Given the description of an element on the screen output the (x, y) to click on. 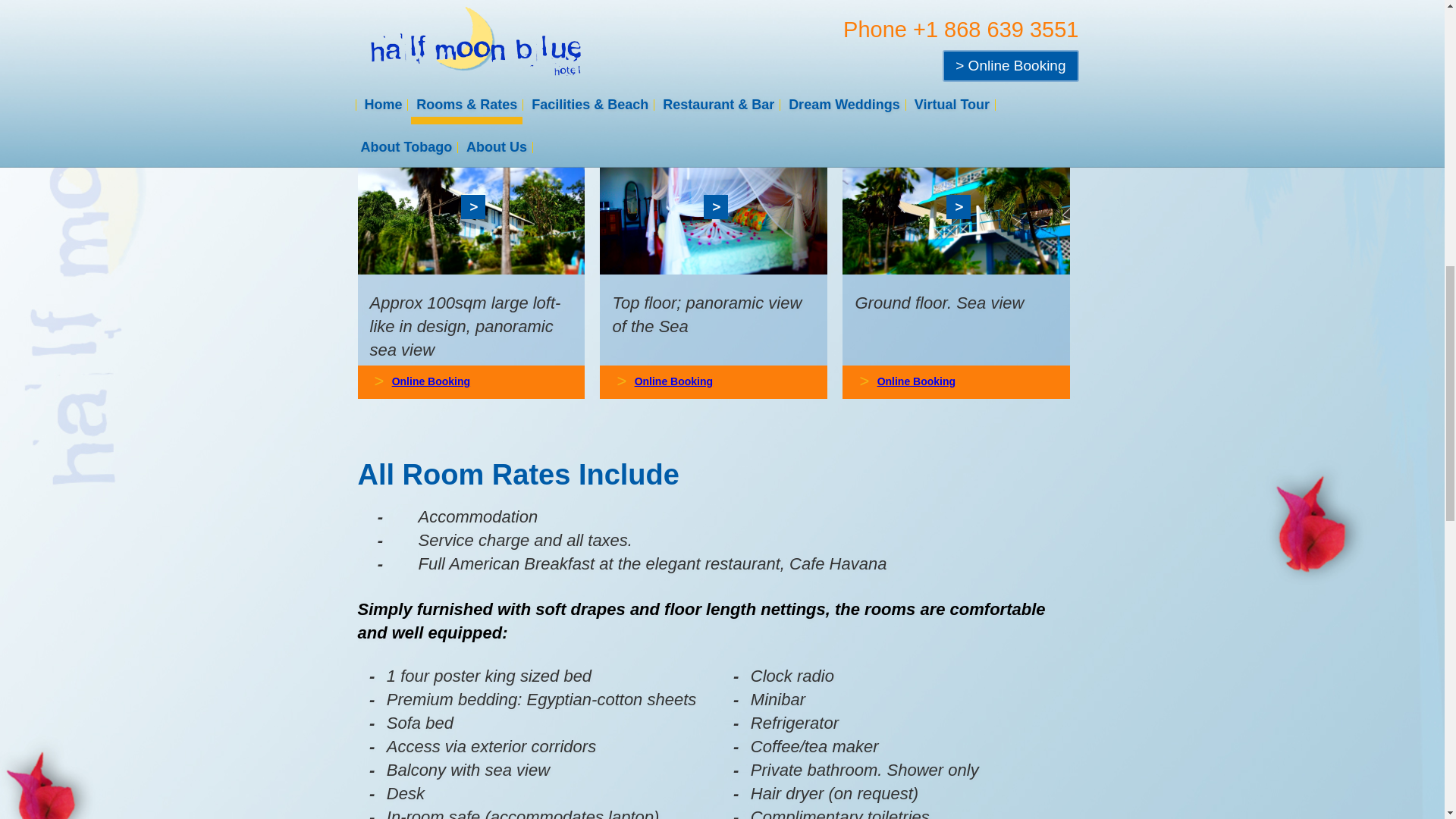
Online Booking (430, 381)
Online Booking (916, 381)
Online Booking (673, 381)
